Given the description of an element on the screen output the (x, y) to click on. 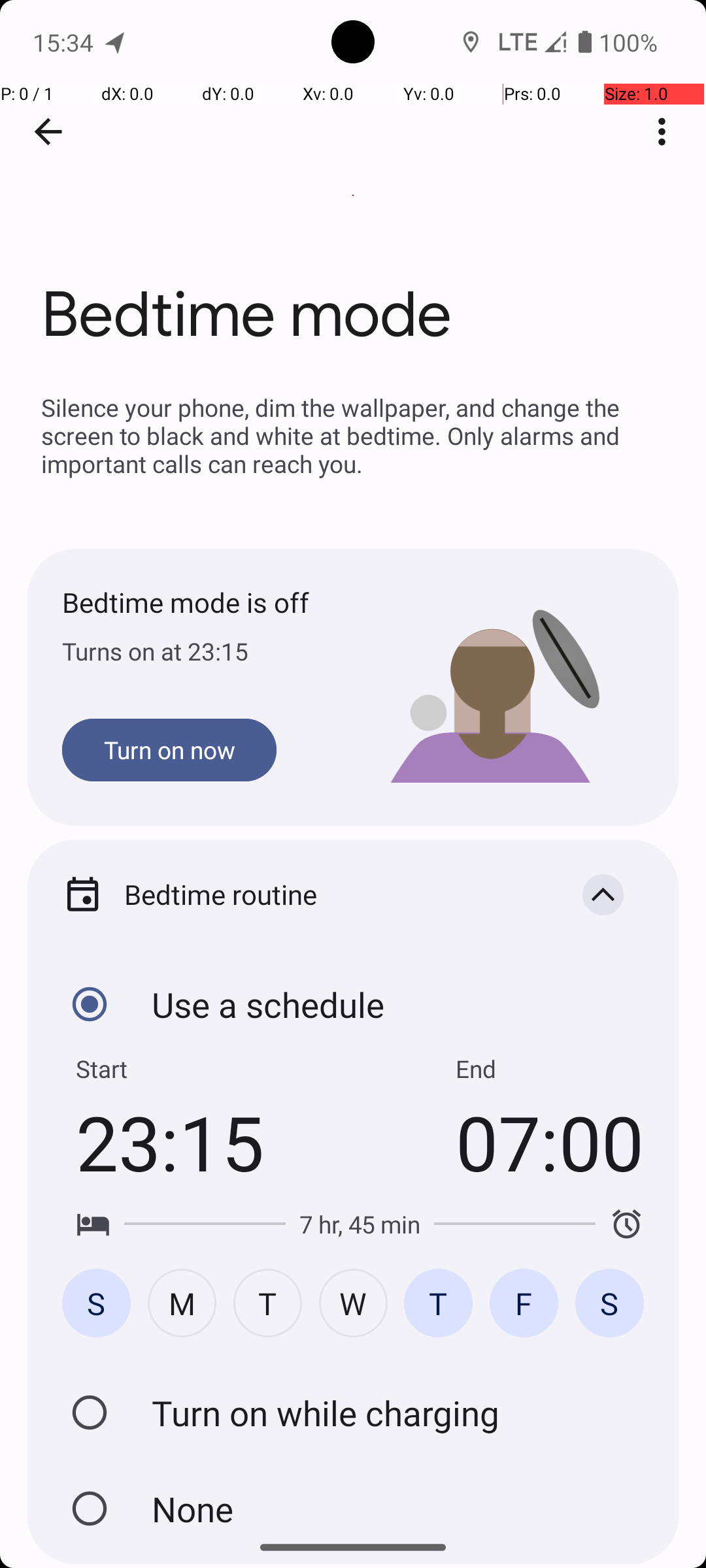
Bedtime mode Element type: android.widget.FrameLayout (353, 195)
Silence your phone, dim the wallpaper, and change the screen to black and white at bedtime. Only alarms and important calls can reach you. Element type: android.widget.TextView (352, 435)
Bedtime mode is off Element type: android.widget.TextView (207, 601)
Turns on at 23:15 Element type: android.widget.TextView (207, 650)
Turn on now Element type: android.widget.Button (169, 749)
Bedtime routine Element type: android.widget.TextView (332, 893)
Collapse the card Bedtime routine Element type: android.widget.ImageView (602, 894)
7 hr, 45 min Element type: android.widget.TextView (359, 1224)
Sunday, Thursday, Friday, Saturday Element type: android.view.View (352, 1302)
Customize Element type: android.widget.TextView (332, 1320)
Expand the card Customize Element type: android.widget.ImageView (602, 1320)
Do Not Disturb, screen options at bedtime, and more Element type: android.widget.TextView (352, 1403)
Use a schedule Element type: android.widget.RadioButton (89, 1003)
23:15 Element type: android.widget.TextView (169, 1141)
End Element type: android.widget.TextView (475, 1068)
07:00 Element type: android.widget.TextView (549, 1141)
Turn on while charging Element type: android.widget.RadioButton (89, 1412)
Turn off Bedtime mode Element type: android.widget.RadioButton (89, 1508)
